Given the description of an element on the screen output the (x, y) to click on. 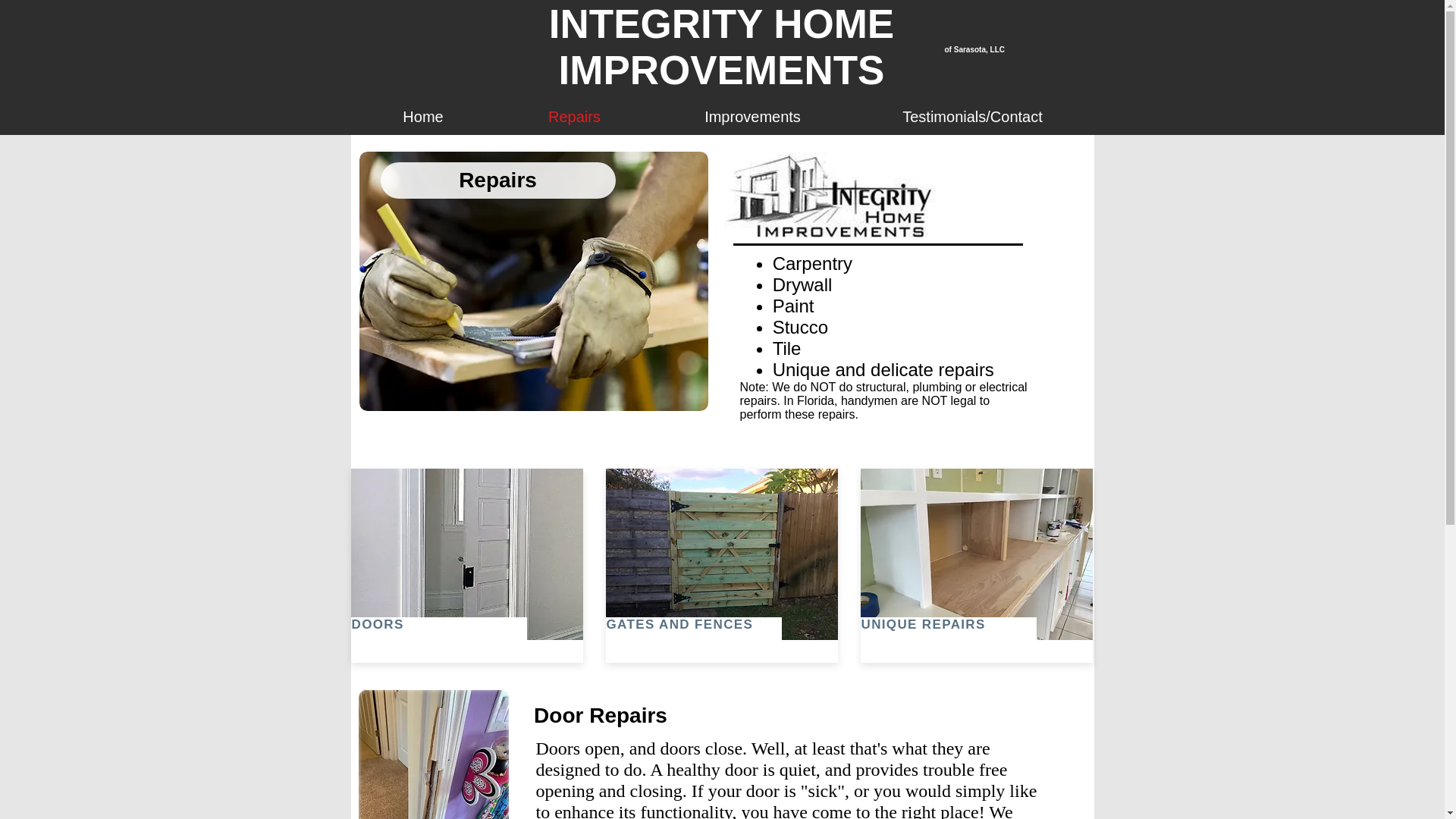
Door Repairs (599, 715)
Home (422, 115)
Repairs (574, 115)
Repairs (497, 180)
Improvements (752, 115)
